Given the description of an element on the screen output the (x, y) to click on. 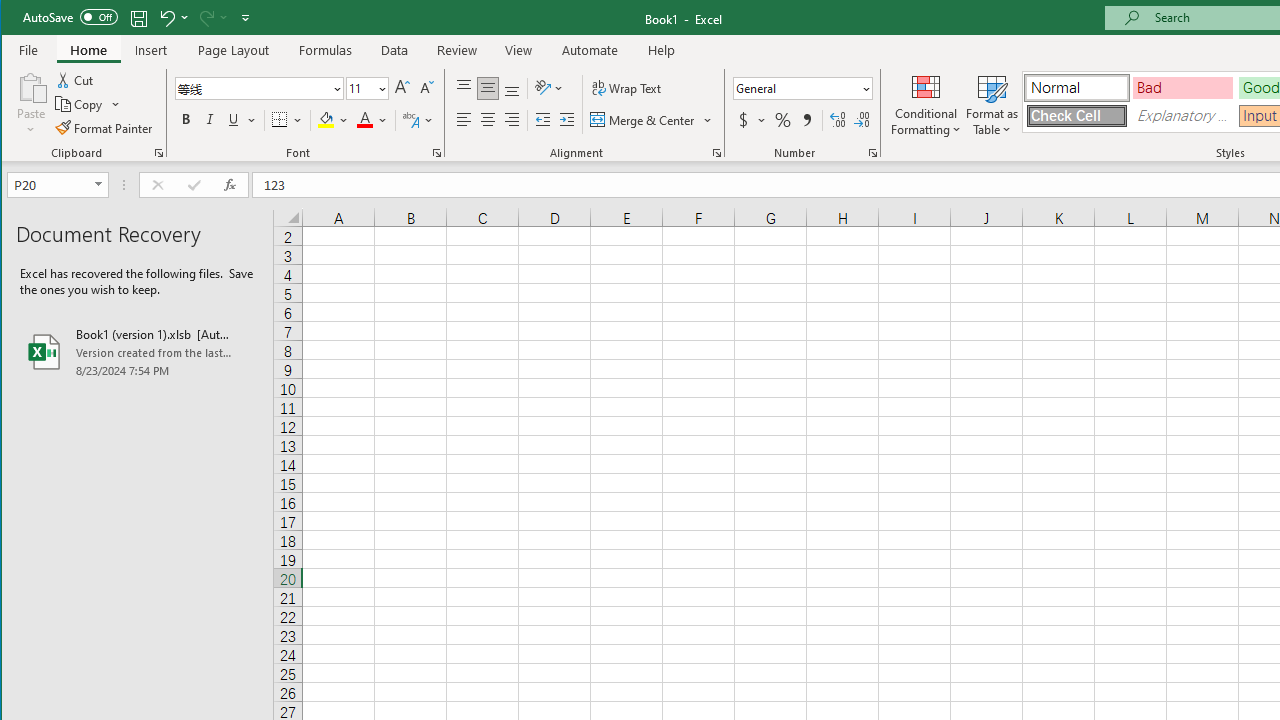
Table (175, 104)
PivotTable (39, 104)
AutoSave (70, 16)
Link (1160, 86)
File Tab (29, 49)
Insert Combo Chart (688, 101)
Pictures (235, 104)
Shapes (280, 104)
Help (661, 50)
Link (1160, 104)
Insert Statistic Chart (652, 101)
Insert Line or Area Chart (616, 101)
